Given the description of an element on the screen output the (x, y) to click on. 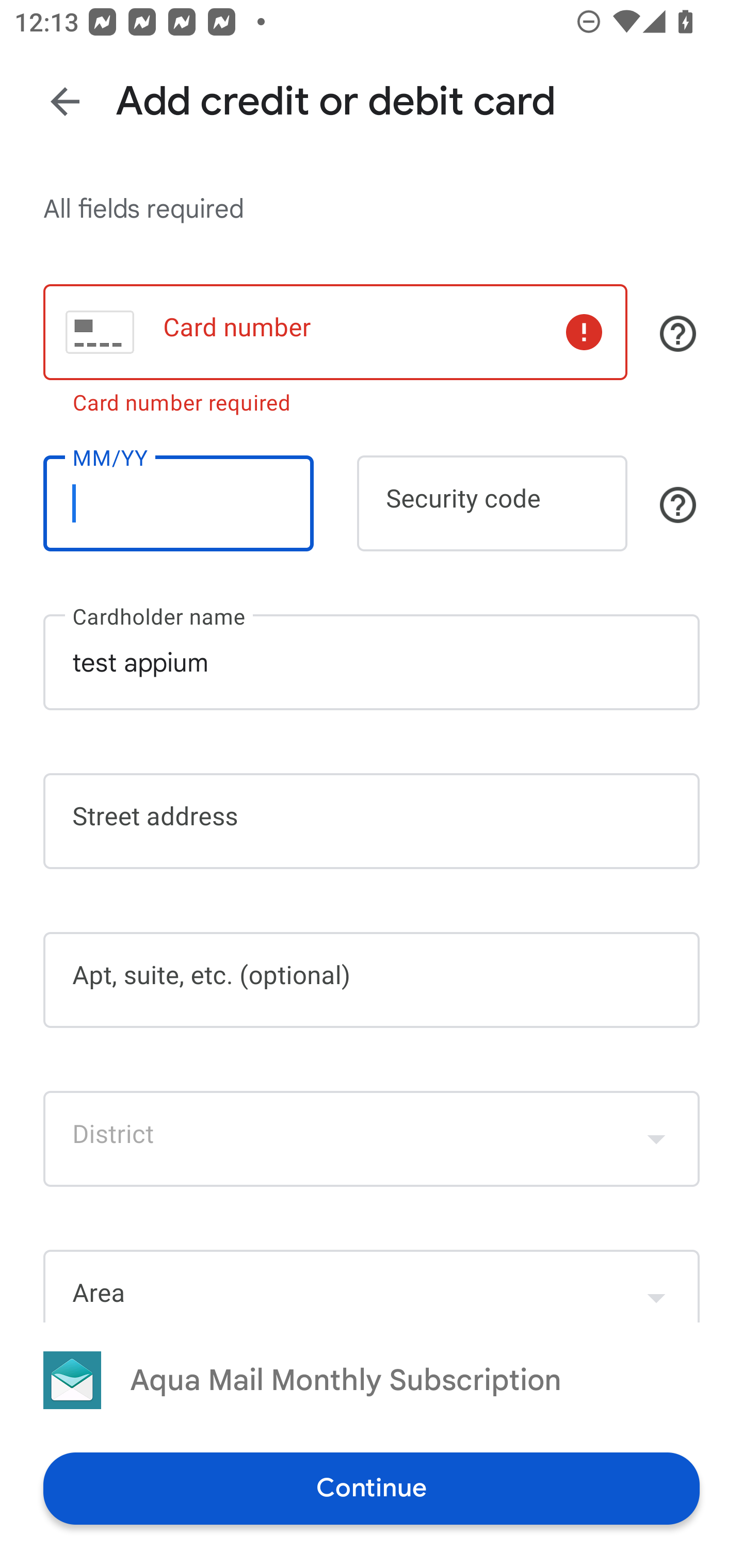
Back (64, 101)
Card number (335, 331)
Button, shows cards that are accepted for payment (677, 333)
Expiration date, 2 digit month, 2 digit year (178, 502)
Security code (492, 502)
Security code help (677, 504)
test appium (371, 662)
Street address (371, 820)
Apt, suite, etc. (optional) (371, 979)
District (371, 1138)
Show dropdown menu (655, 1139)
Area (371, 1285)
Show dropdown menu (655, 1287)
Continue (371, 1487)
